Given the description of an element on the screen output the (x, y) to click on. 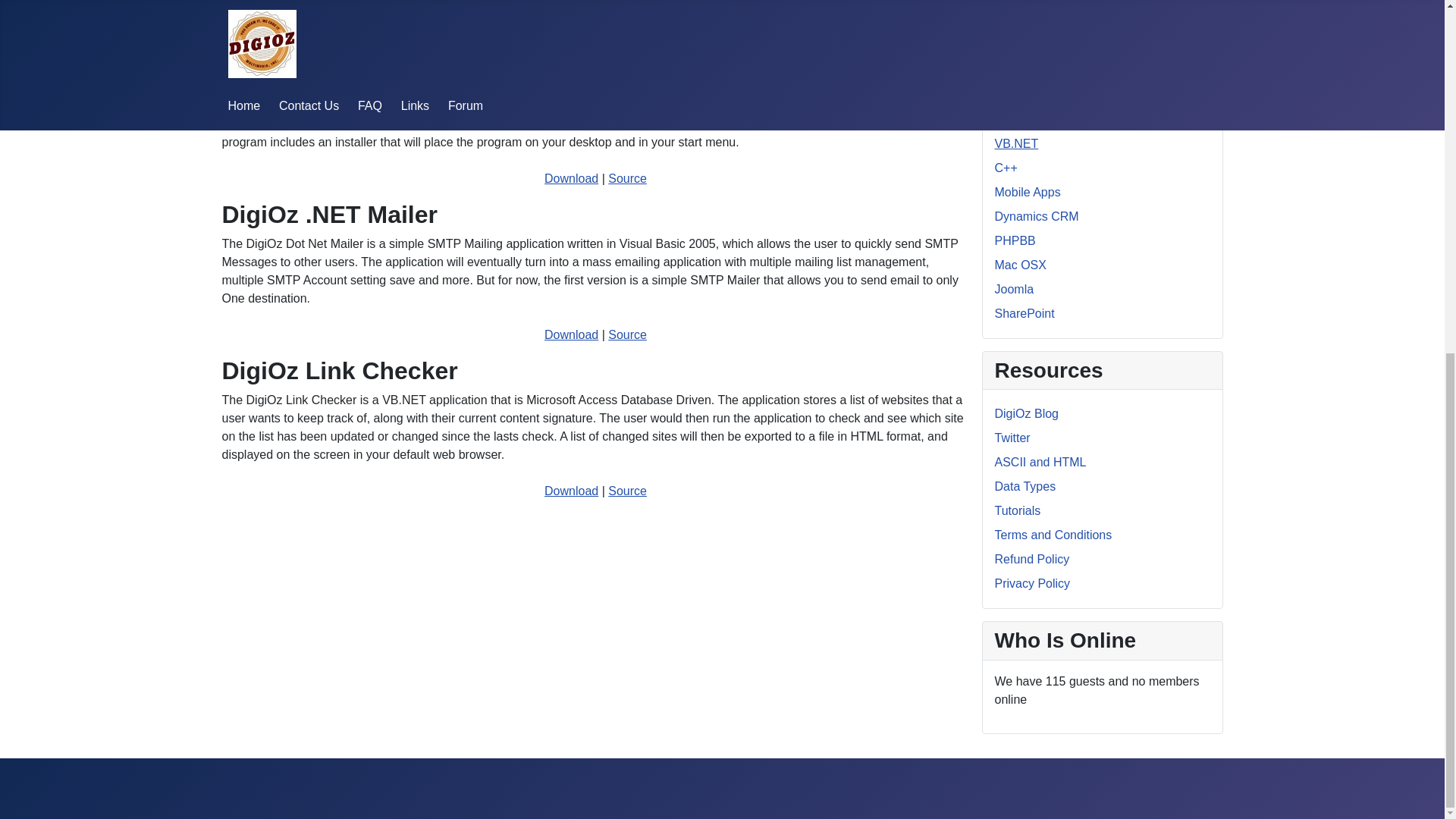
Source (627, 490)
Java (1007, 46)
Dynamics CRM (1036, 215)
Mac OSX (1020, 264)
JavaScript (1022, 70)
PHP (1007, 94)
Custom DLL (1028, 21)
Download (571, 490)
Source (627, 334)
Download (571, 39)
